Given the description of an element on the screen output the (x, y) to click on. 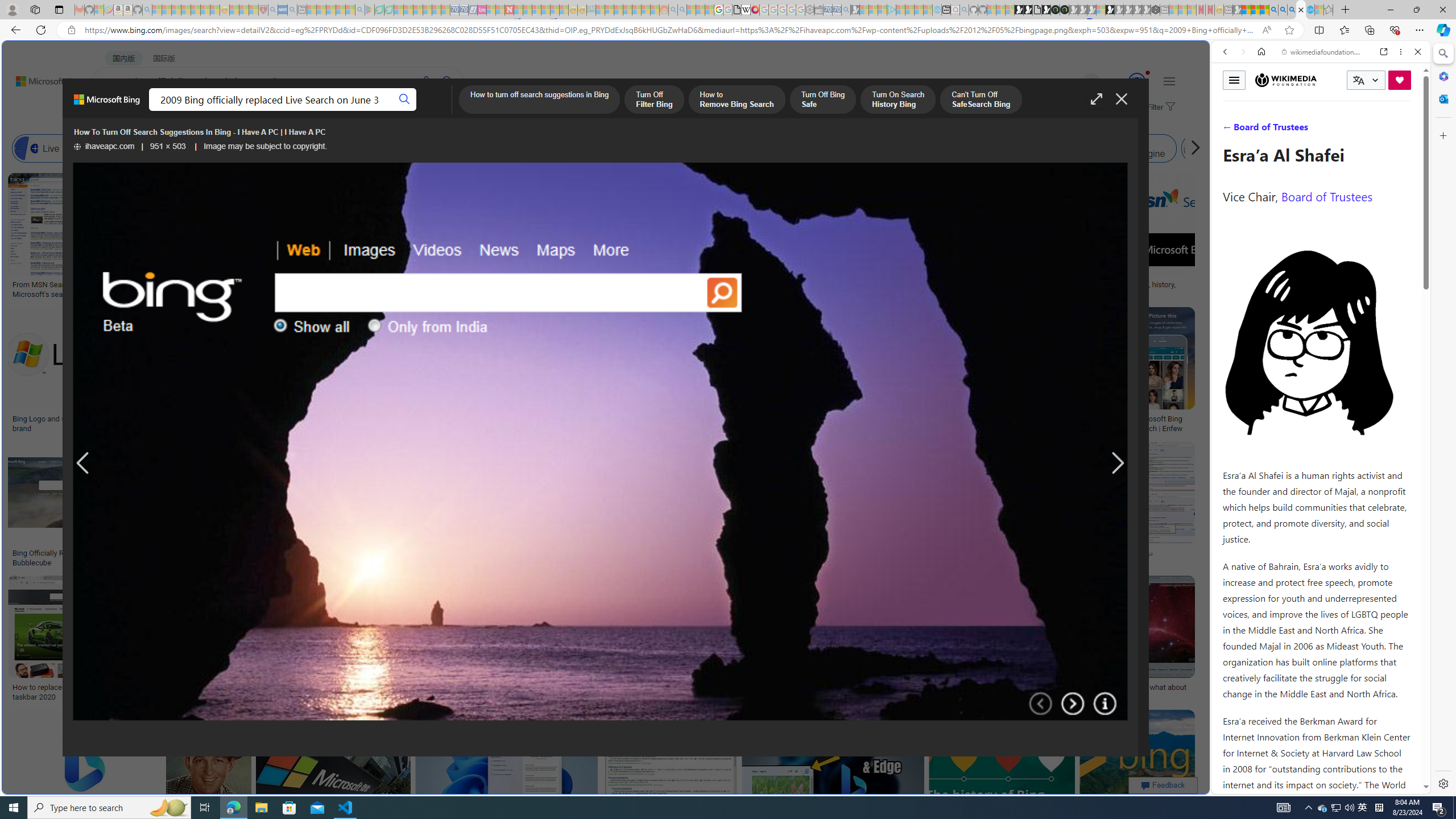
Dropdown Menu (451, 111)
MSN Homepage Bing Search Engine (815, 148)
Target page - Wikipedia (745, 9)
World - MSN (727, 389)
Next image result (1117, 463)
How to Remove Bing Search (736, 100)
Close Customize pane (1442, 135)
